Given the description of an element on the screen output the (x, y) to click on. 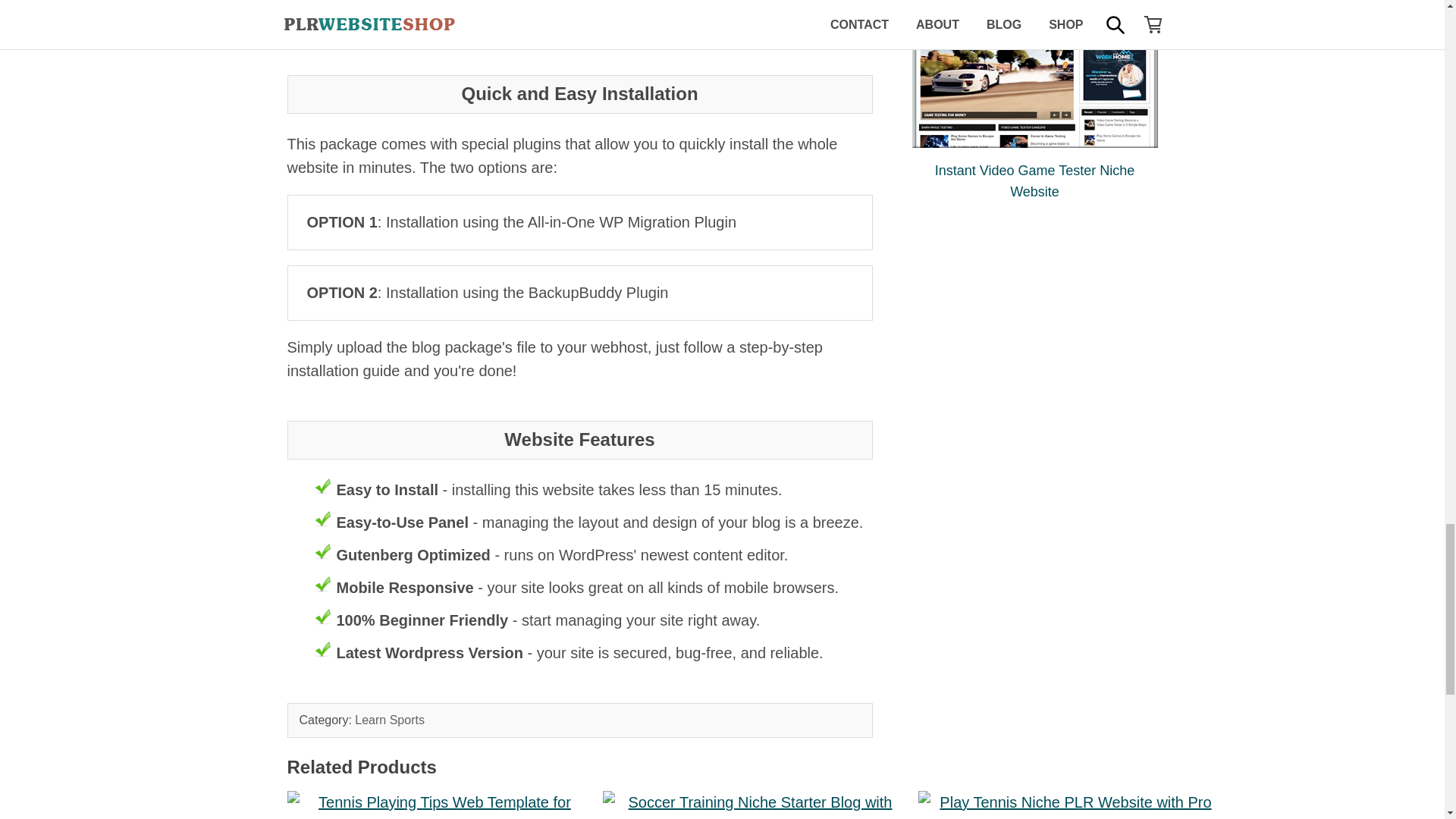
Learn Sports (390, 719)
Play Tennis Niche PLR Website with Pro Theme (1069, 805)
Tennis Playing Tips Web Template for Beginners (437, 805)
Soccer Training Niche Starter Blog with PLR (753, 805)
